Given the description of an element on the screen output the (x, y) to click on. 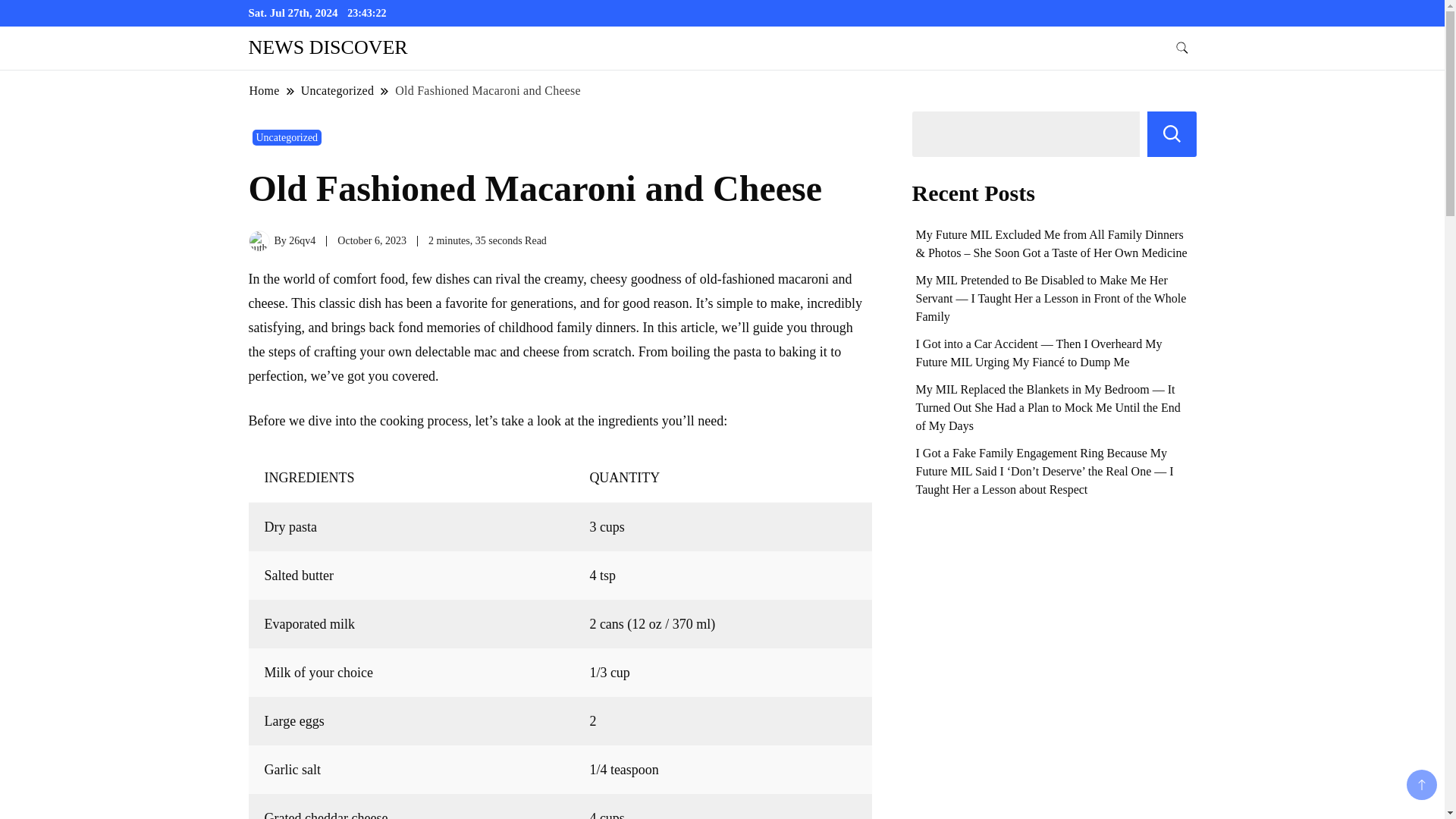
October 6, 2023 (371, 240)
Old Fashioned Macaroni and Cheese (487, 90)
Home (264, 90)
Uncategorized (286, 137)
Uncategorized (337, 90)
26qv4 (301, 240)
Search (1171, 134)
NEWS DISCOVER (327, 47)
